Given the description of an element on the screen output the (x, y) to click on. 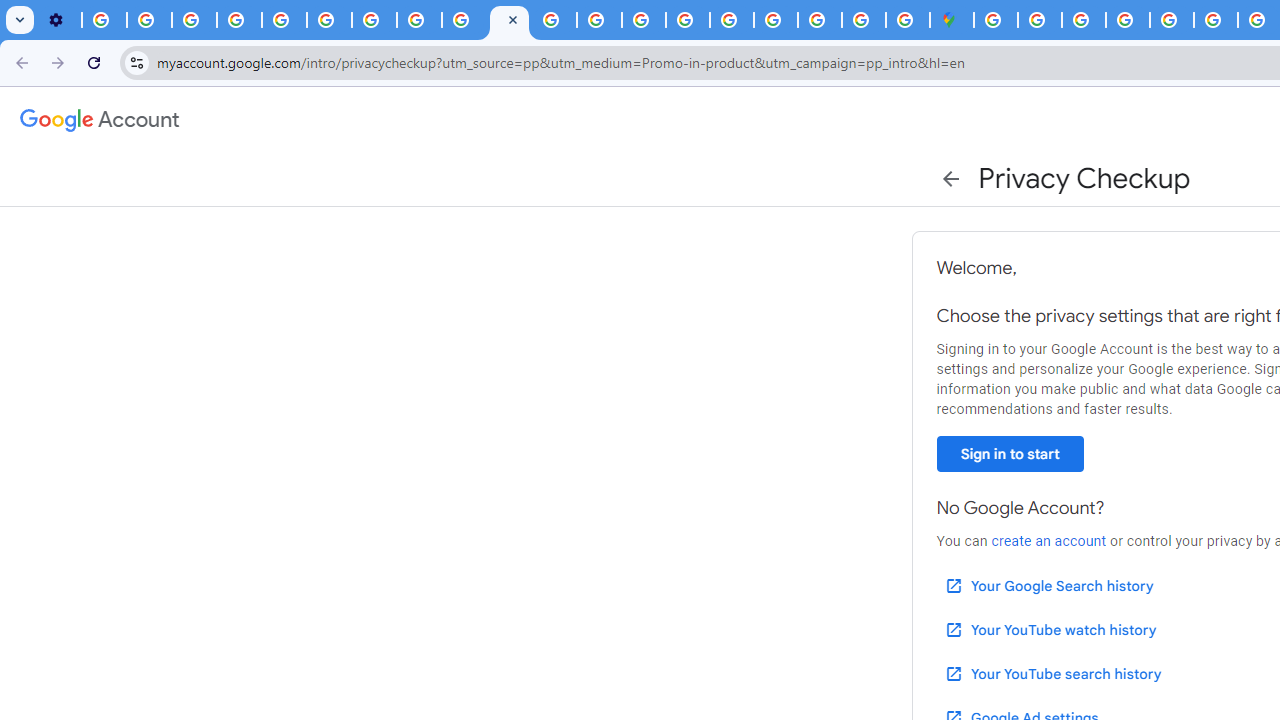
YouTube (329, 20)
Privacy Help Center - Policies Help (284, 20)
Privacy Checkup (464, 20)
Privacy Checkup (509, 20)
create an account (1048, 541)
Your YouTube watch history (1049, 630)
